Given the description of an element on the screen output the (x, y) to click on. 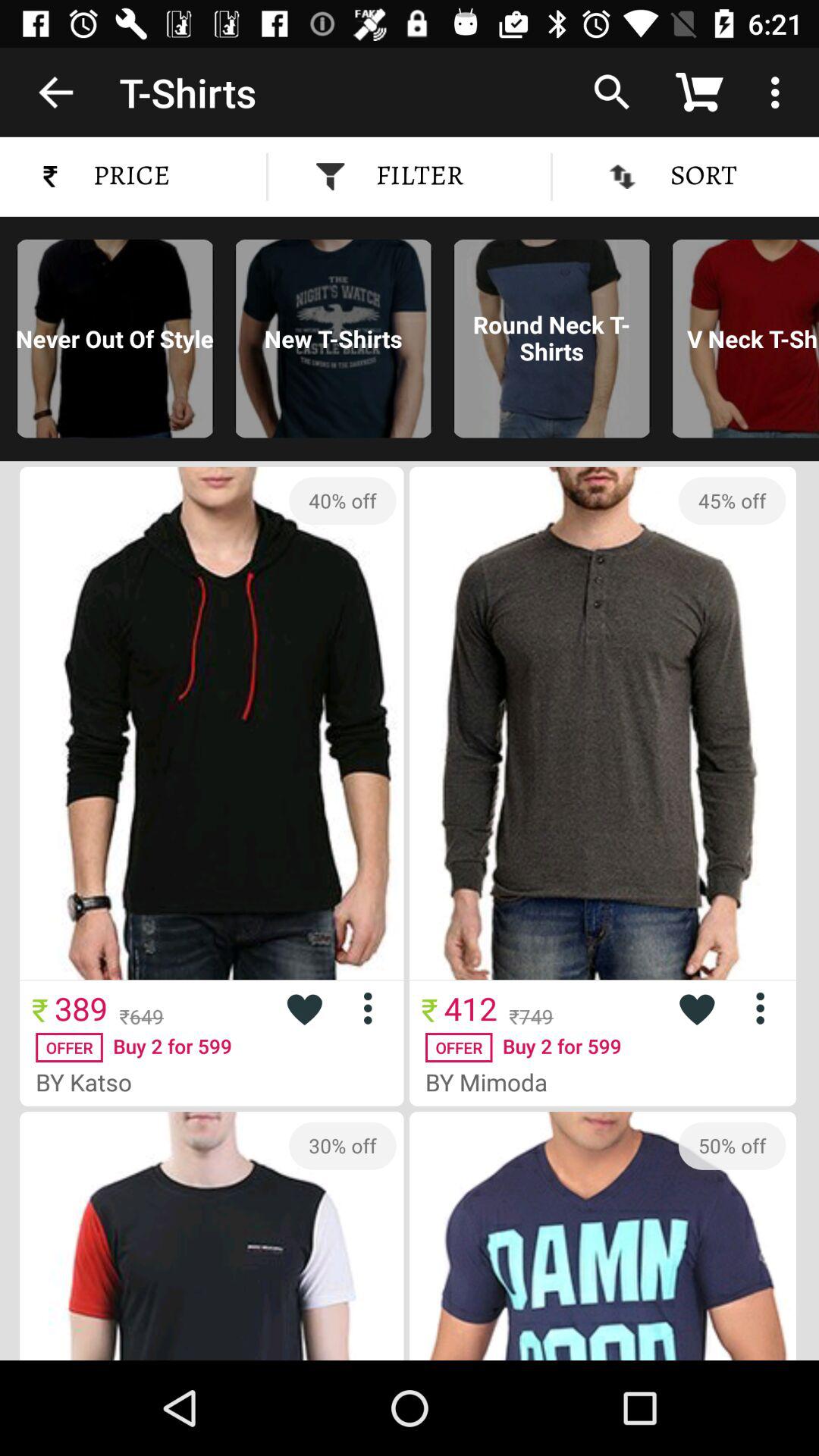
more info (766, 1008)
